Given the description of an element on the screen output the (x, y) to click on. 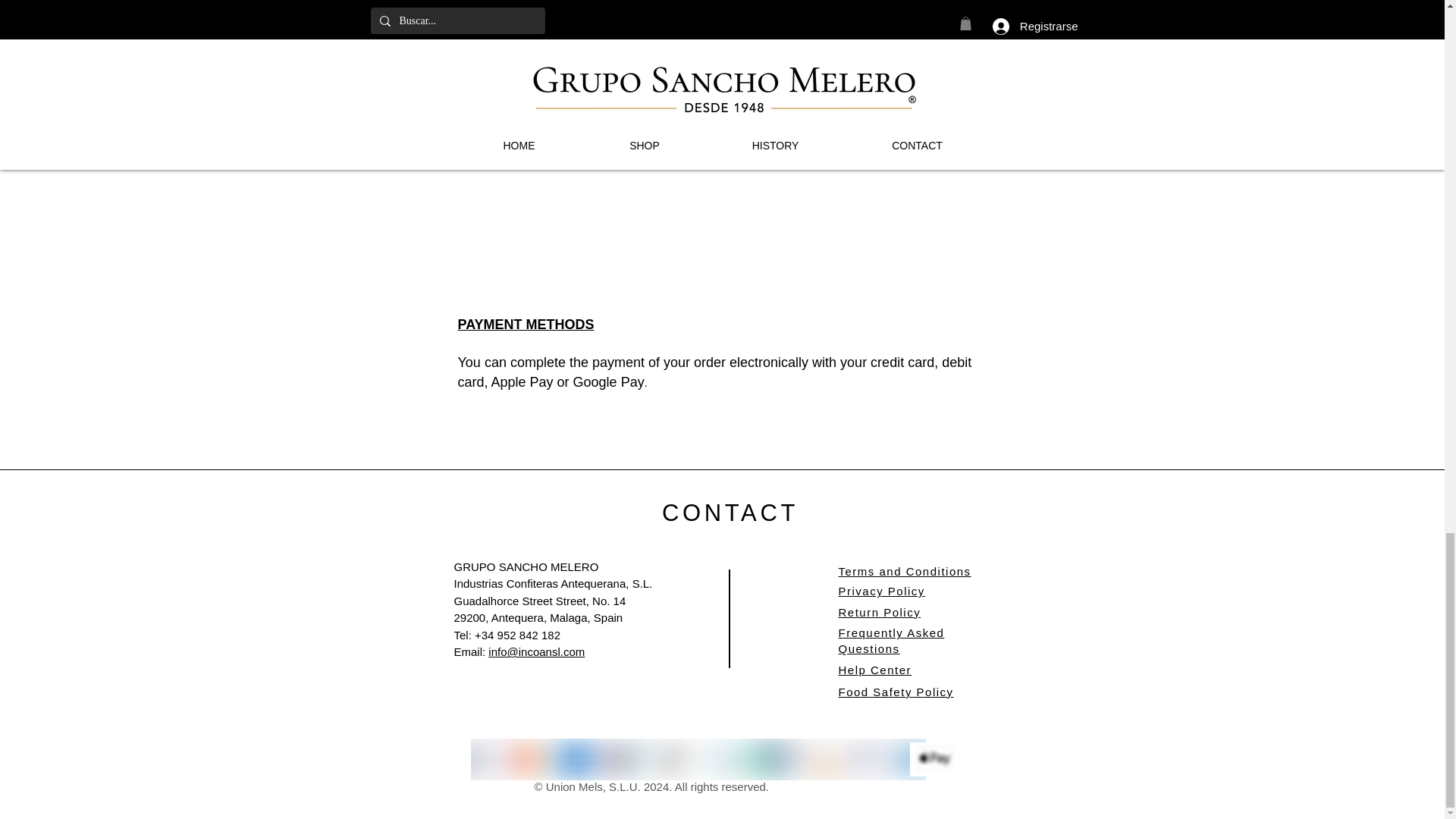
Privacy Policy (881, 590)
Food Safety Policy (895, 691)
Help Center (875, 669)
Terms and Conditions (904, 571)
Frequently Asked Questions (891, 640)
CONTACT (729, 512)
